Given the description of an element on the screen output the (x, y) to click on. 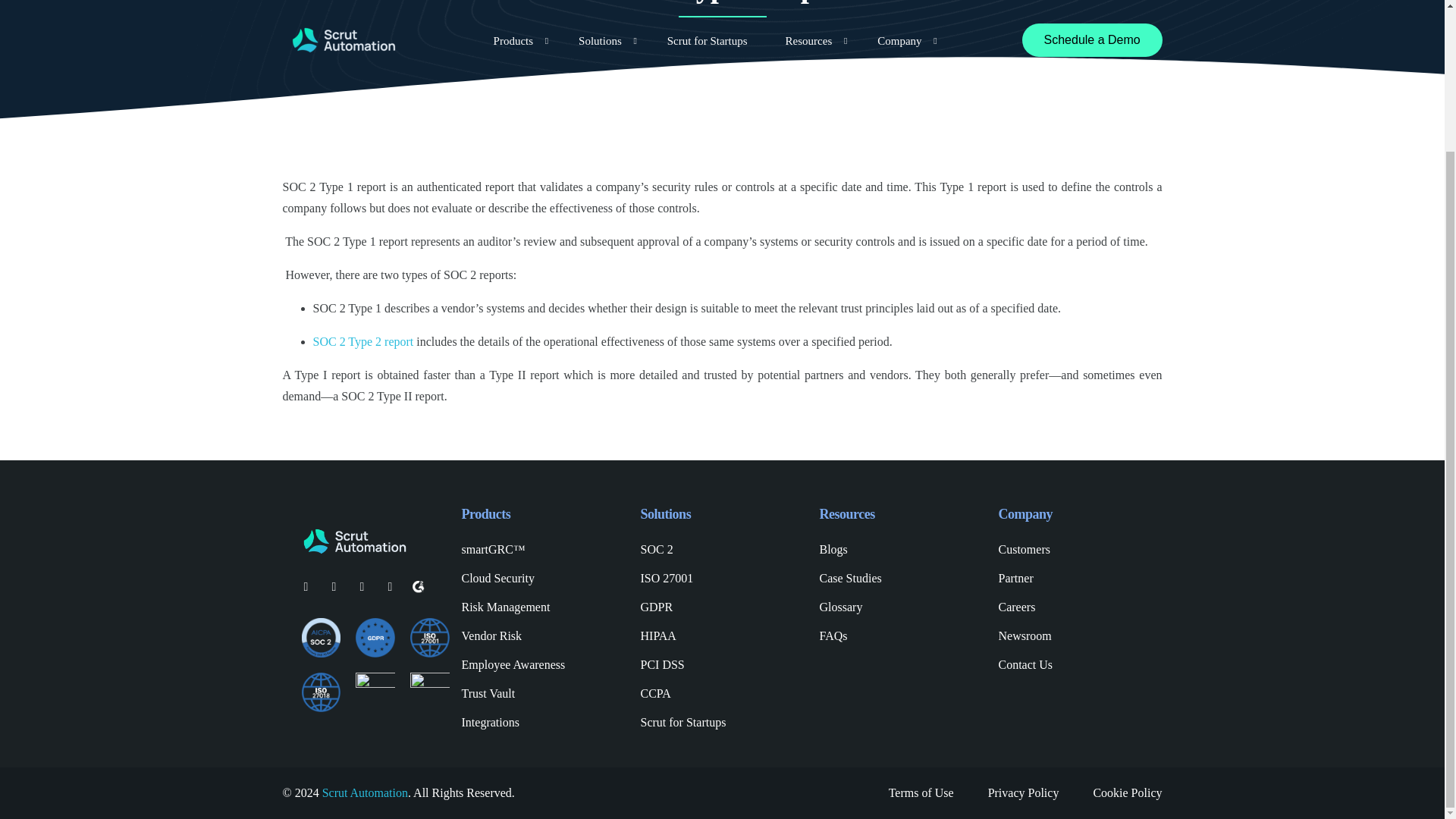
SOC 2 Type 2 report (363, 341)
